Given the description of an element on the screen output the (x, y) to click on. 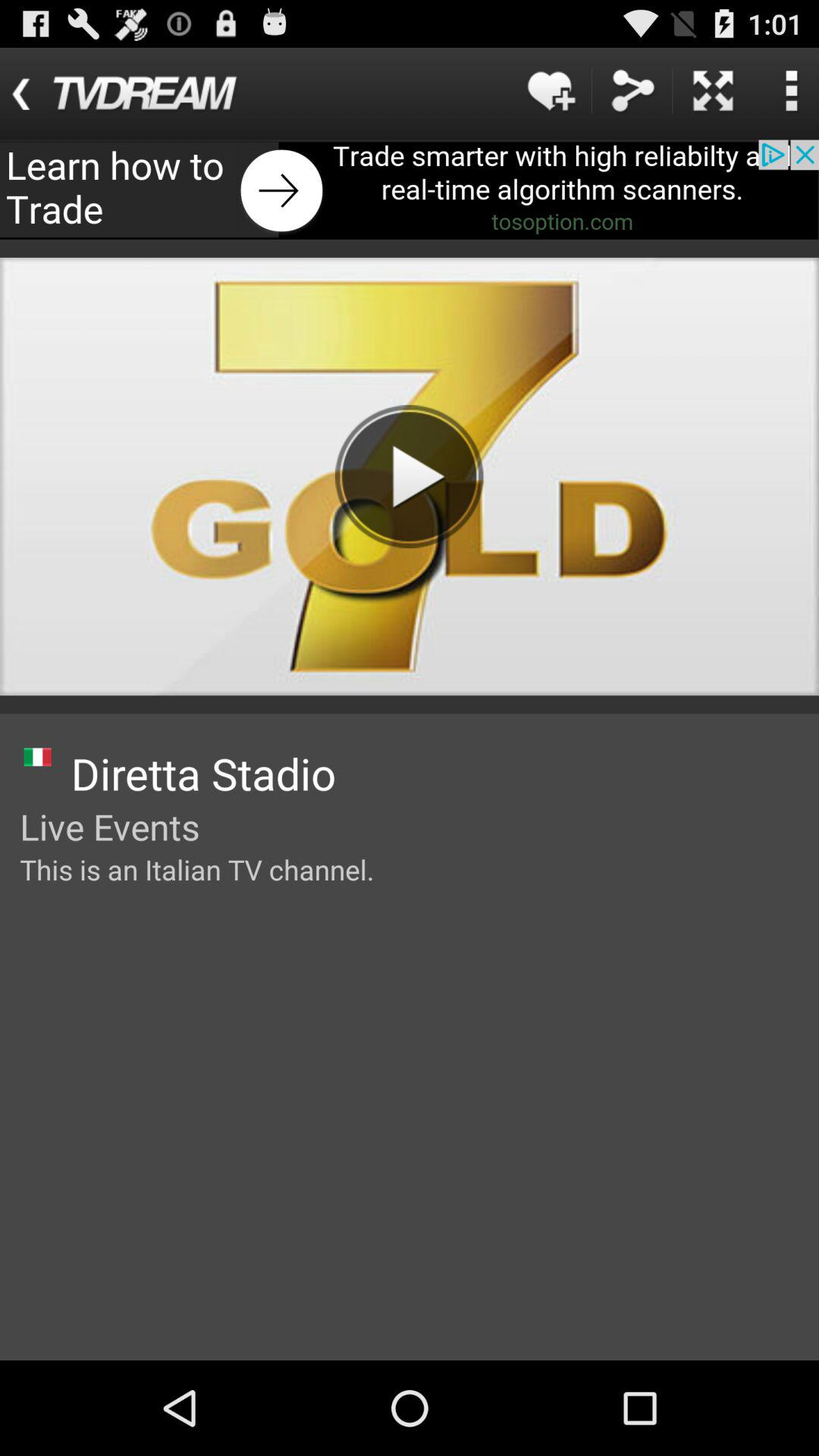
play the video (408, 476)
